Given the description of an element on the screen output the (x, y) to click on. 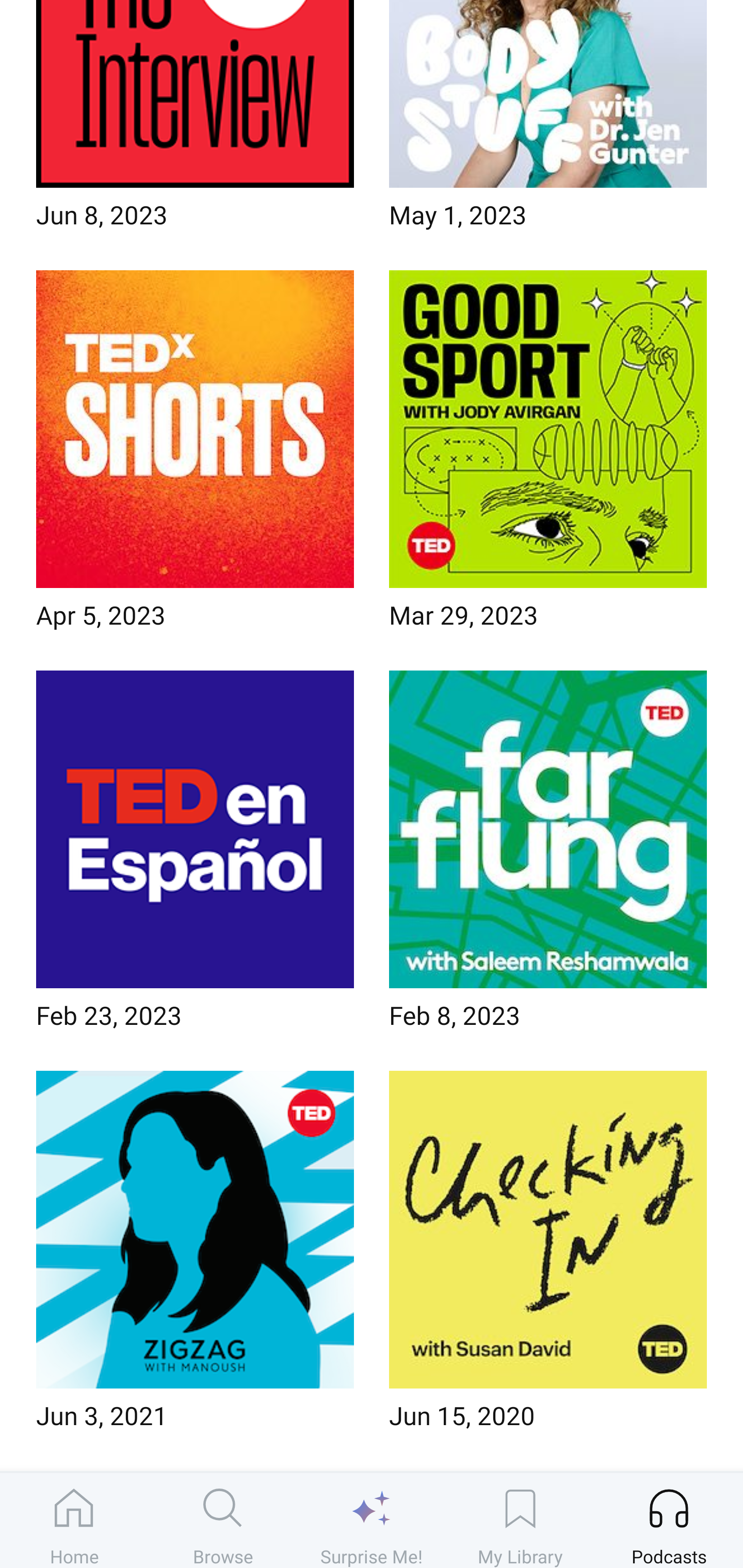
Jun 8, 2023 (194, 120)
May 1, 2023 (547, 120)
Apr 5, 2023 (194, 455)
Mar 29, 2023 (547, 455)
Feb 23, 2023 (194, 856)
Feb 8, 2023 (547, 856)
Jun 3, 2021 (194, 1256)
Jun 15, 2020 (547, 1256)
Home (74, 1520)
Browse (222, 1520)
Surprise Me! (371, 1520)
My Library (519, 1520)
Podcasts (668, 1520)
